Given the description of an element on the screen output the (x, y) to click on. 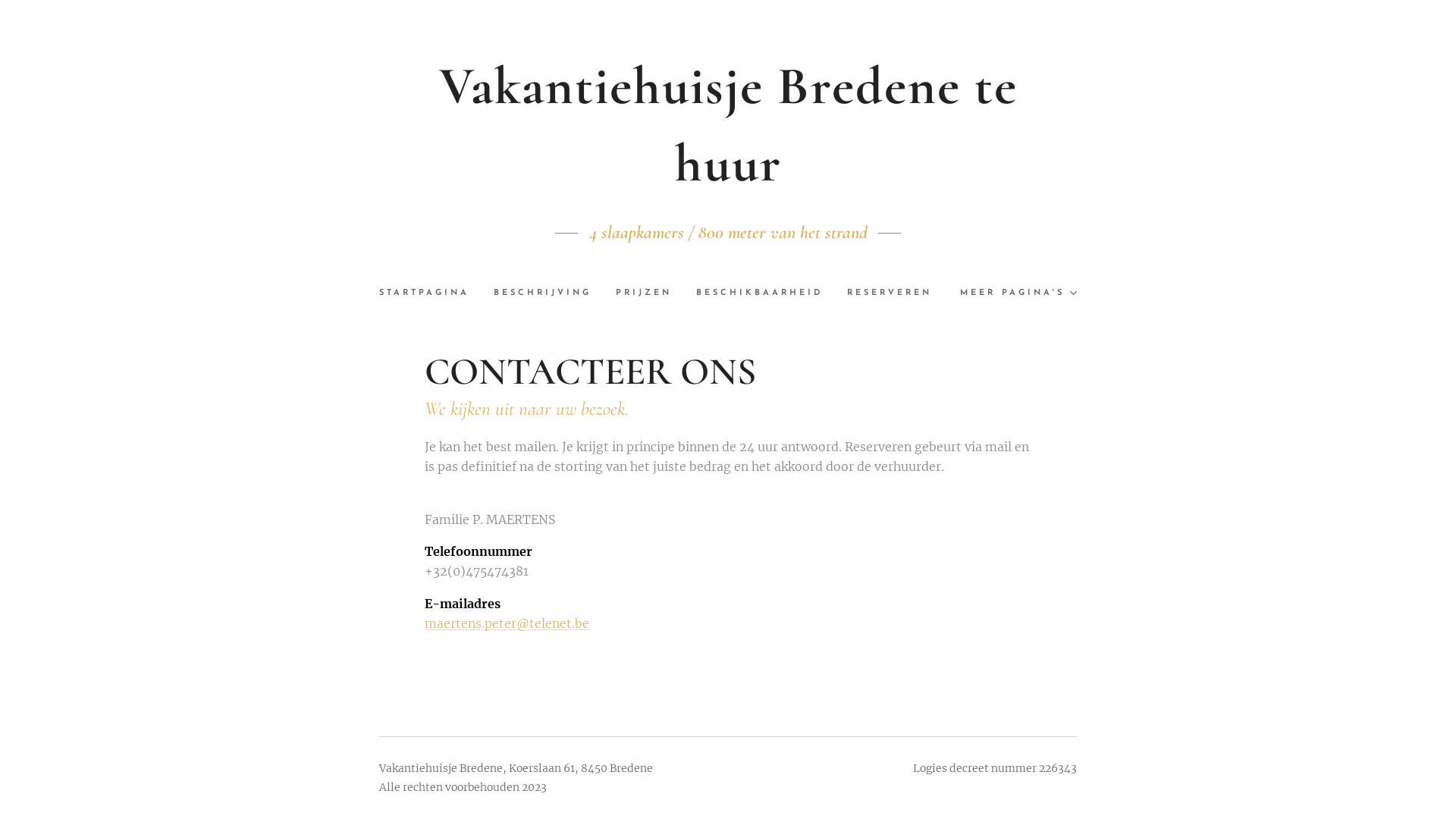
RESERVEREN Element type: text (889, 293)
maertens.peter@telenet.be Element type: text (506, 622)
STARTPAGINA Element type: text (430, 293)
BESCHIKBAARHEID Element type: text (759, 293)
Vakantiehuisje Bredene te huur Element type: text (727, 124)
PRIJZEN Element type: text (643, 293)
MEER PAGINA'S Element type: text (1011, 293)
BESCHRIJVING Element type: text (542, 293)
